Given the description of an element on the screen output the (x, y) to click on. 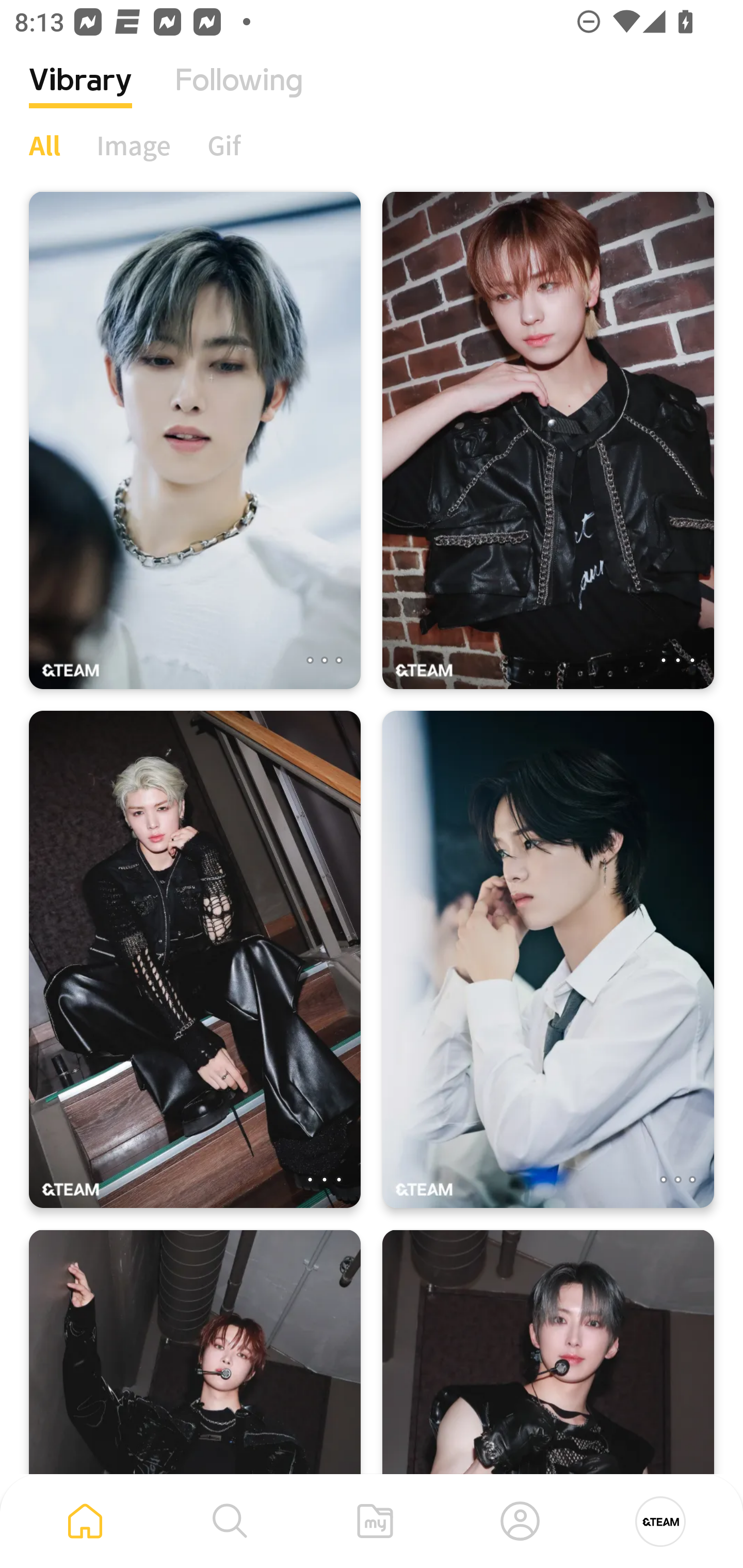
Vibrary (80, 95)
Following (239, 95)
All (44, 145)
Image (133, 145)
Gif (223, 145)
